Given the description of an element on the screen output the (x, y) to click on. 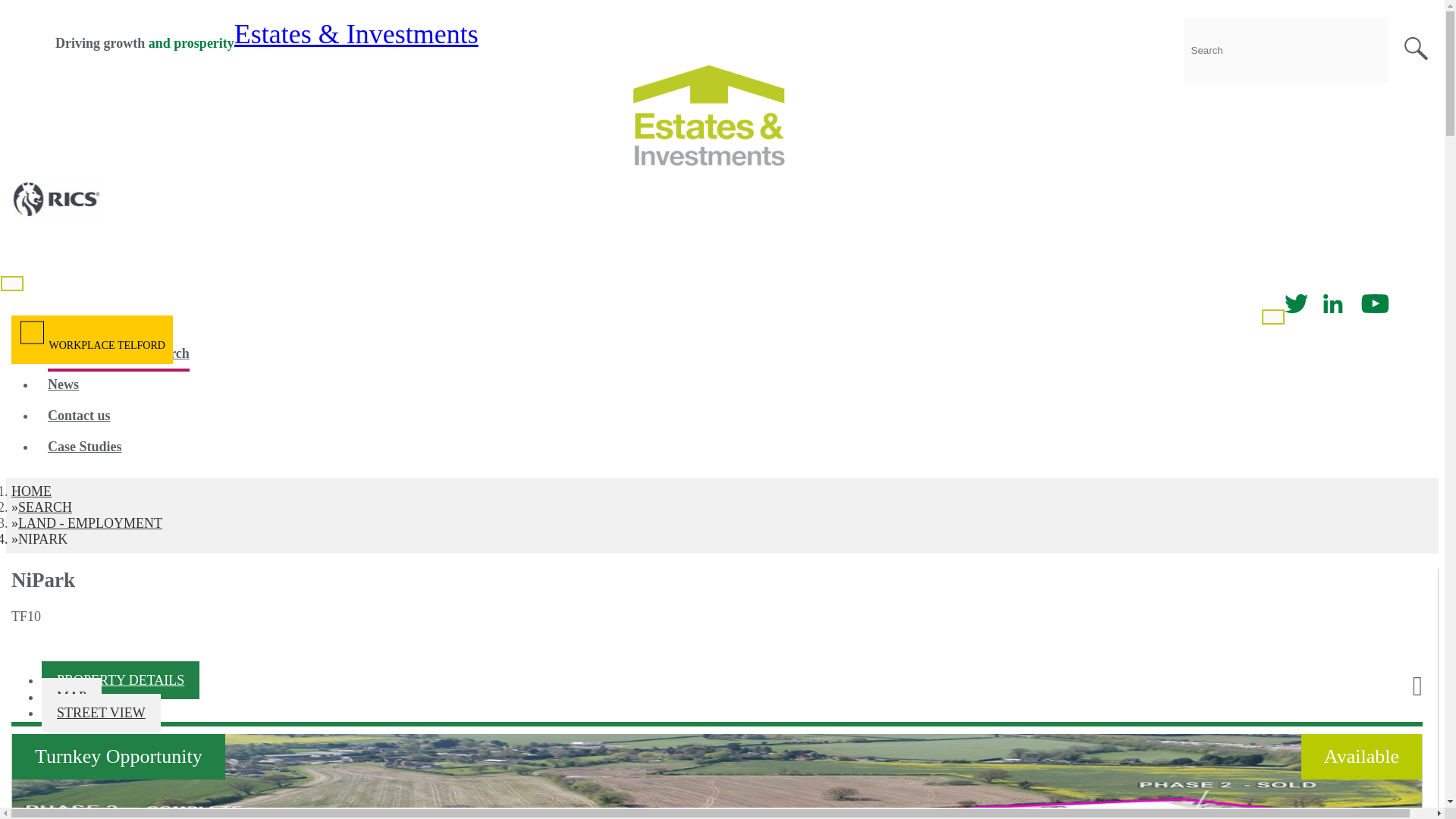
Follow us on Twitter (1295, 308)
STREET VIEW (101, 712)
SEARCH (44, 507)
News (63, 387)
LAND - EMPLOYMENT (89, 522)
Close navigation (1273, 316)
Watch our videos on YouTube (1375, 308)
Search the site (1415, 48)
Toggle navigation (12, 283)
Contact us (79, 418)
link to the Workplace Telford website (91, 339)
PROPERTY DETAILS (120, 679)
WORKPLACE TELFORD (91, 339)
Services (72, 325)
View our linkedIn page (1332, 308)
